Given the description of an element on the screen output the (x, y) to click on. 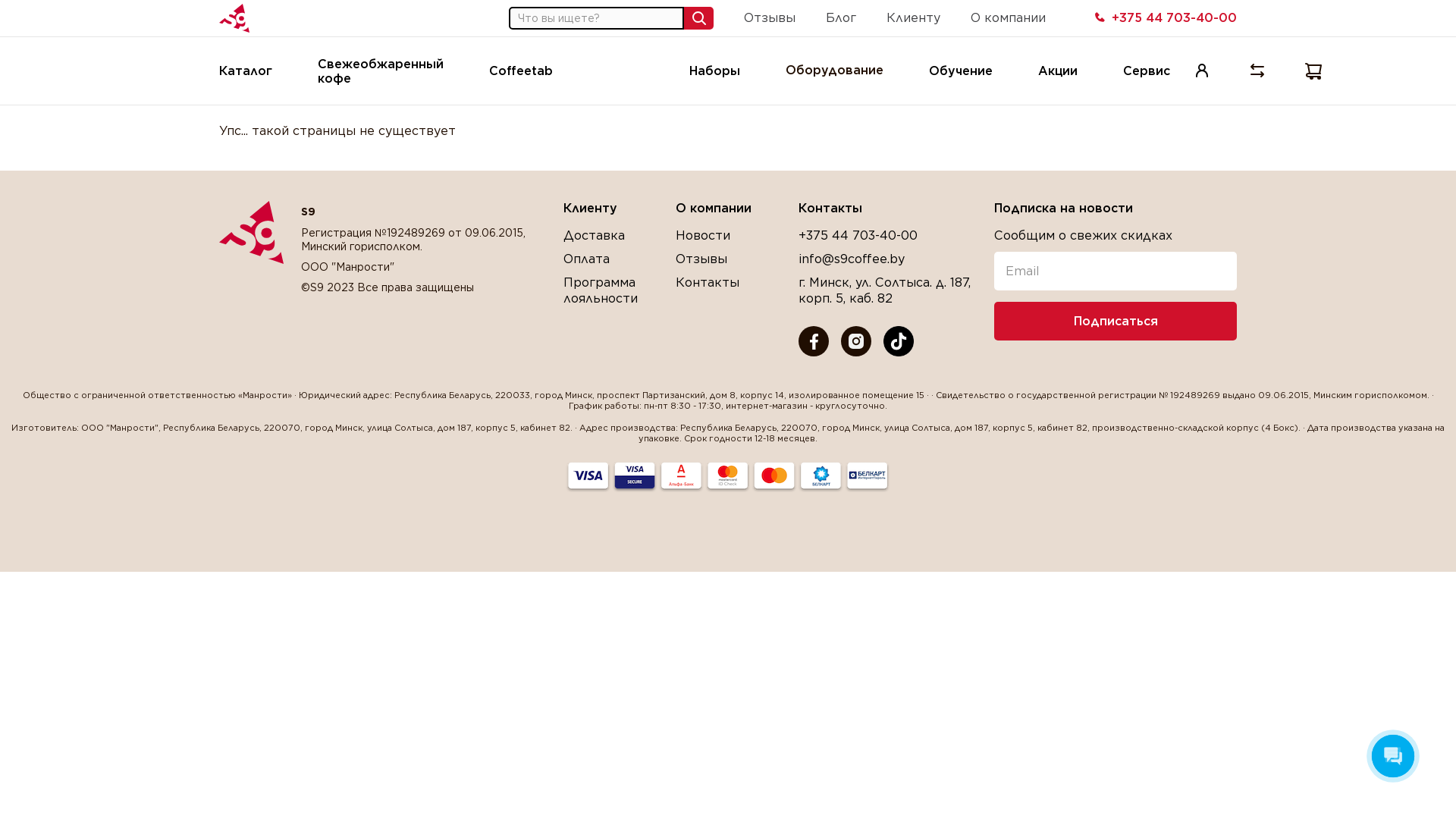
Coffeetab Element type: text (520, 70)
+375 44 703-40-00 Element type: text (1164, 17)
info@s9coffee.by Element type: text (851, 258)
+375 44 703-40-00 Element type: text (857, 235)
